Given the description of an element on the screen output the (x, y) to click on. 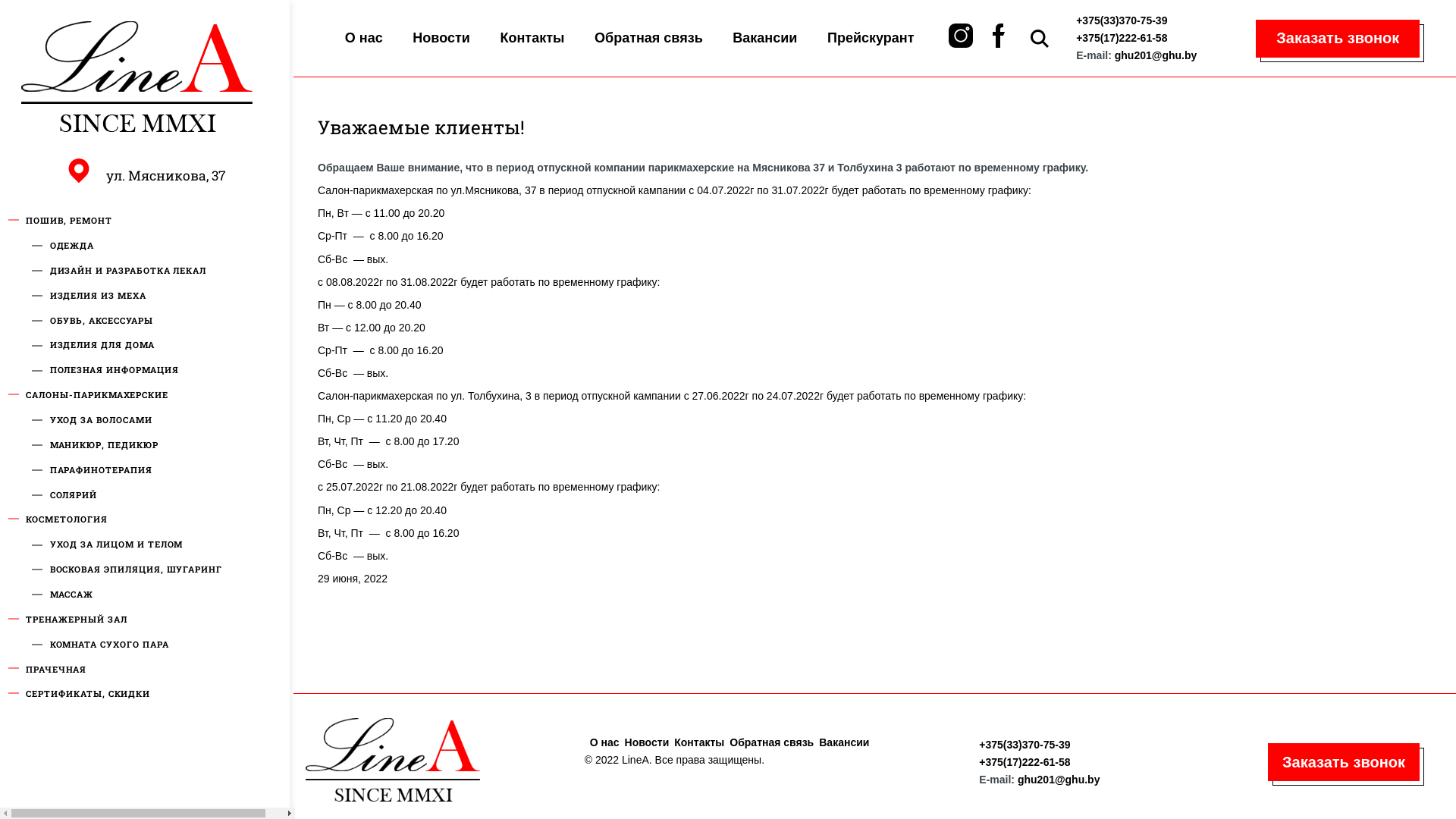
ghu201@ghu.by Element type: text (1058, 779)
+375(33)370-75-39 Element type: text (1121, 20)
ghu201@ghu.by Element type: text (1155, 55)
+375(17)222-61-58 Element type: text (1024, 762)
+375(33)370-75-39 Element type: text (1024, 744)
+375(17)222-61-58 Element type: text (1121, 37)
